Given the description of an element on the screen output the (x, y) to click on. 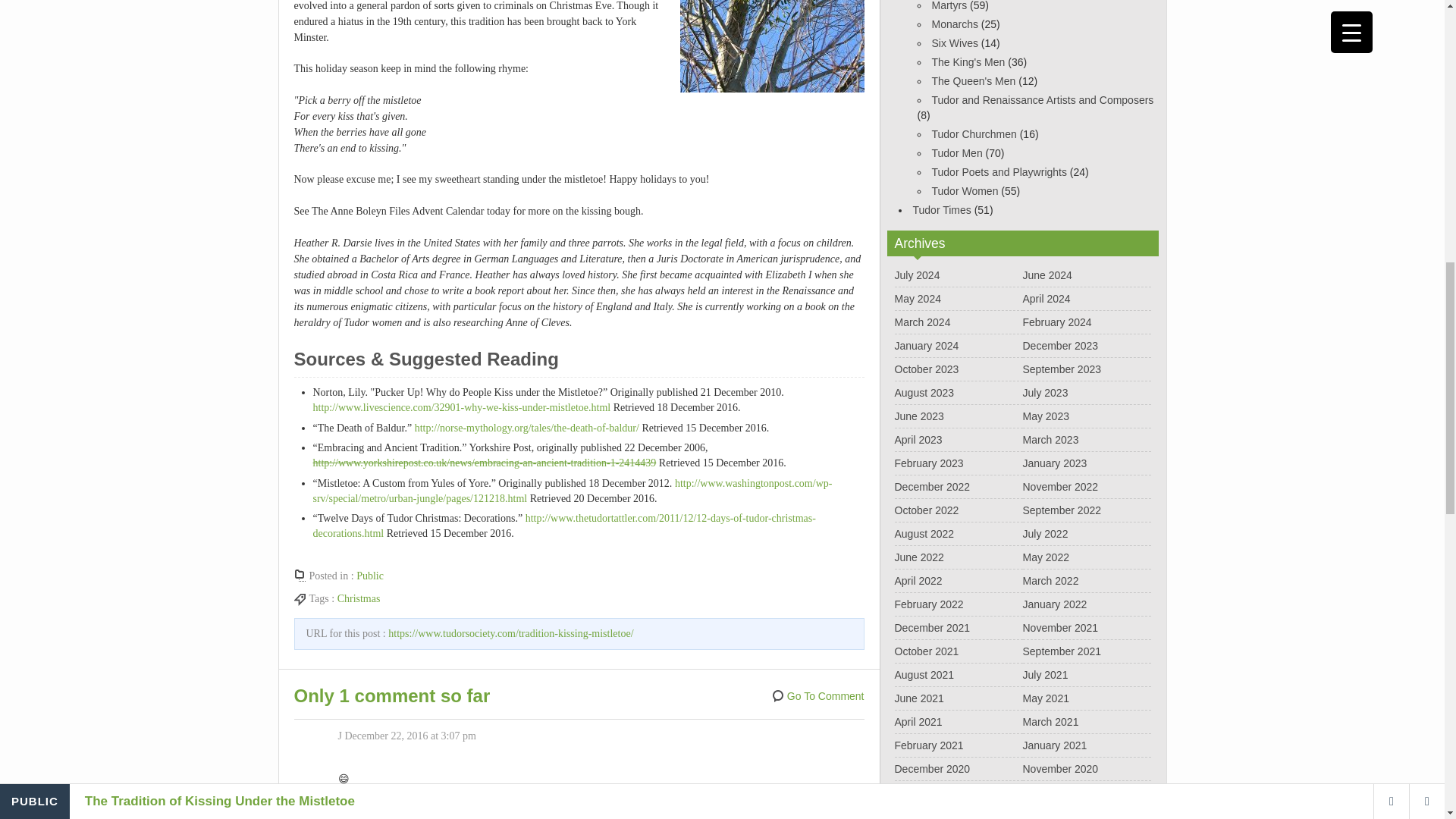
Reply (349, 801)
Go To Comment (817, 695)
Public (370, 575)
Christmas (358, 598)
